Given the description of an element on the screen output the (x, y) to click on. 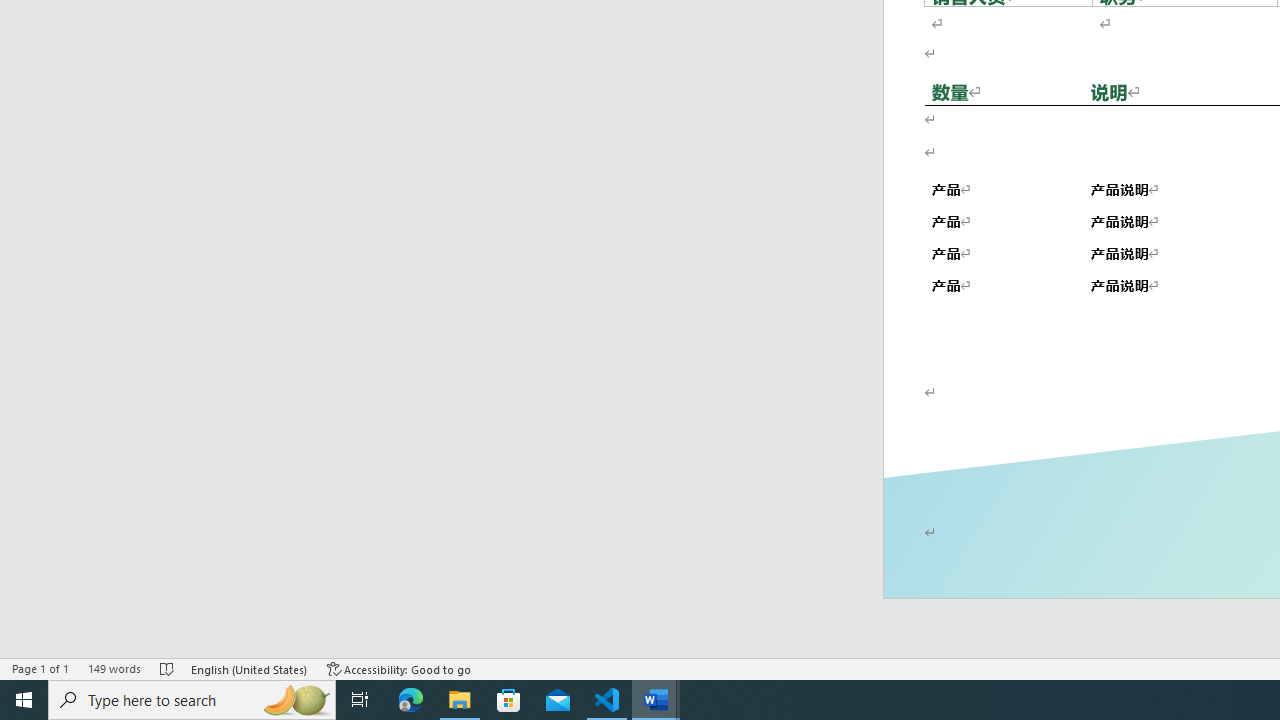
Page Number Page 1 of 1 (39, 668)
Spelling and Grammar Check No Errors (168, 668)
